Given the description of an element on the screen output the (x, y) to click on. 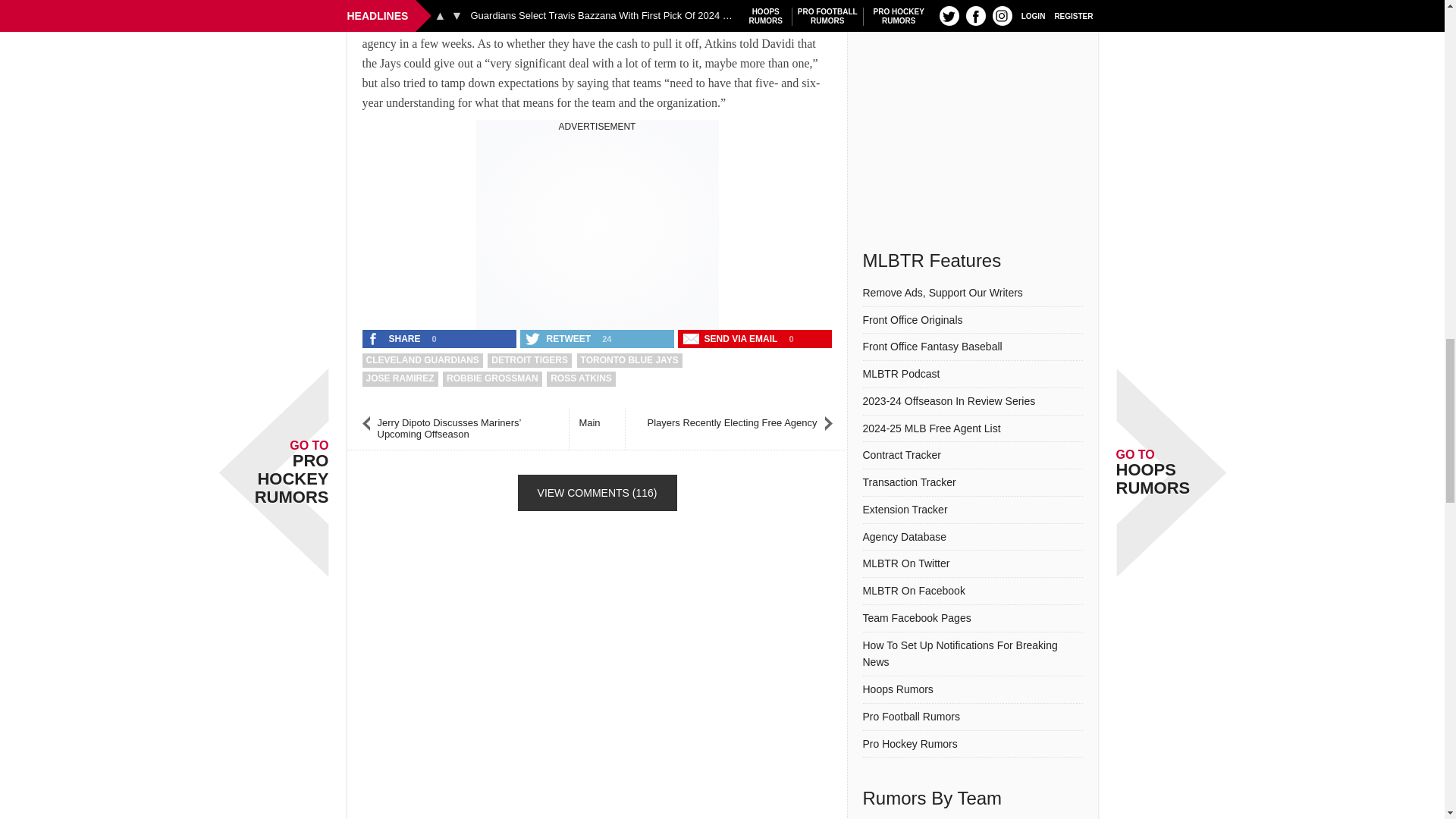
3rd party ad content (597, 227)
